Given the description of an element on the screen output the (x, y) to click on. 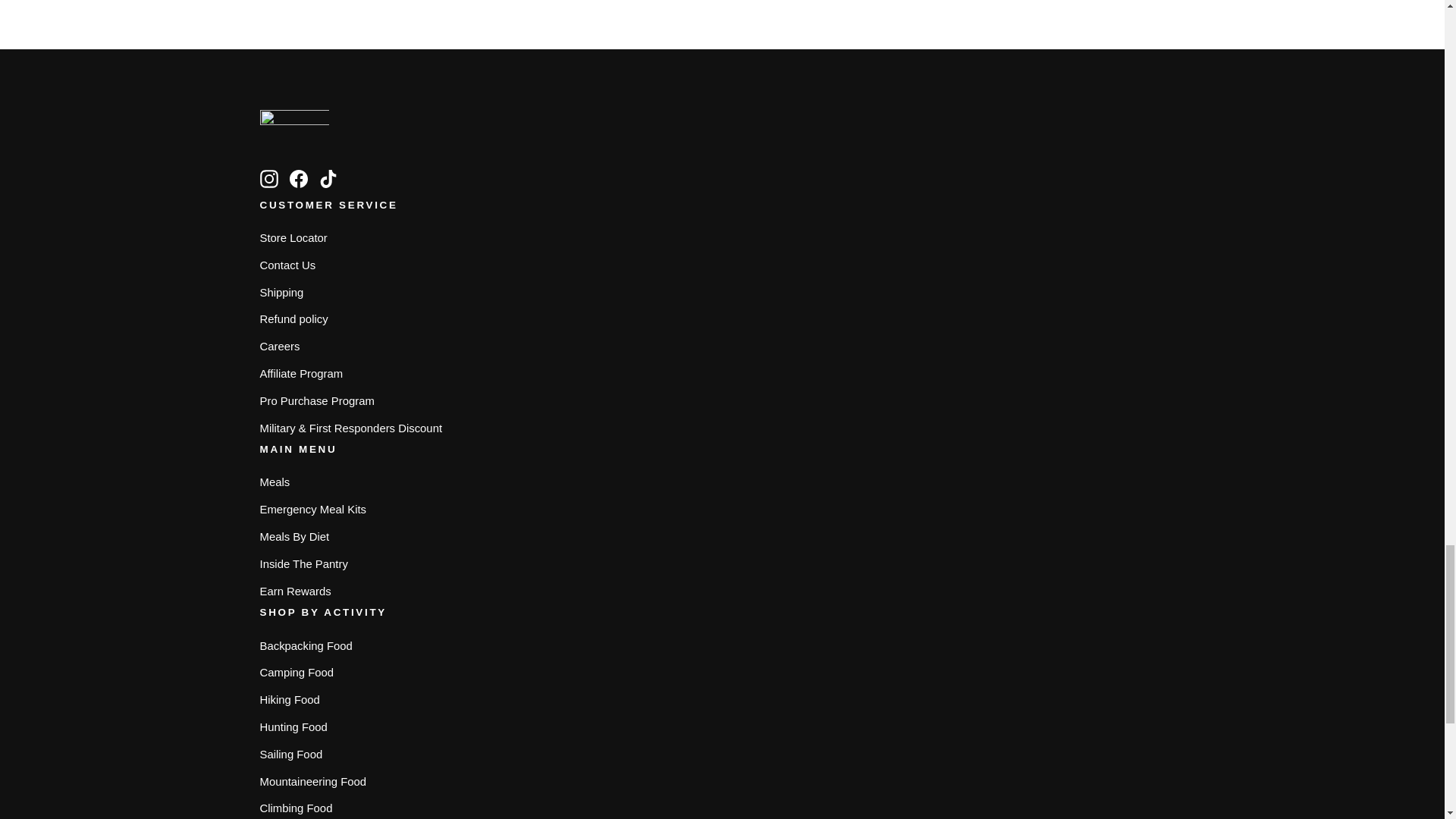
Backpacker's Pantry on TikTok (327, 178)
Backpacker's Pantry on Instagram (268, 178)
Backpacker's Pantry on Facebook (298, 178)
